Given the description of an element on the screen output the (x, y) to click on. 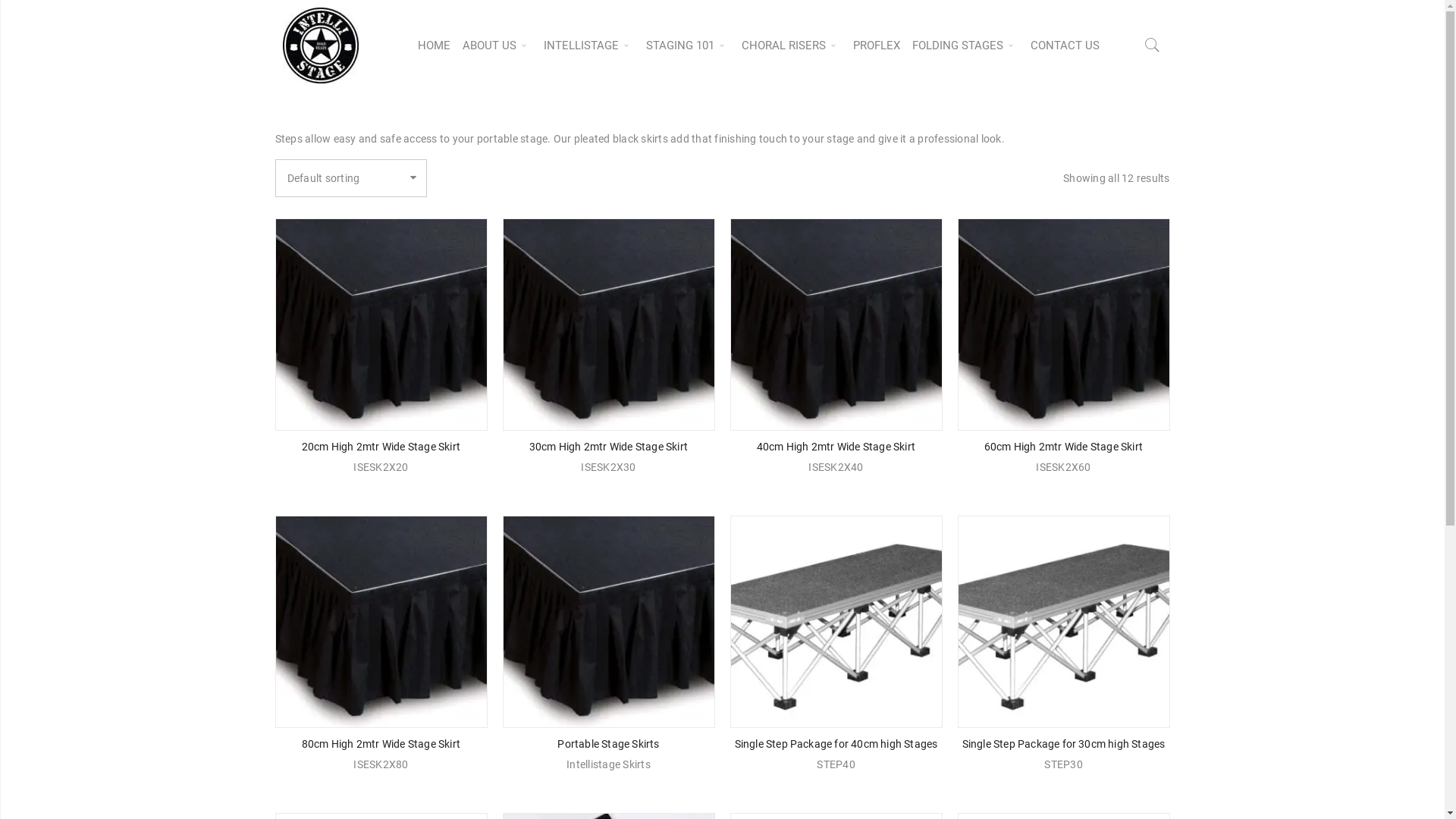
30cm High 2mtr Wide Stage Skirt Element type: text (608, 446)
ABOUT US Element type: text (496, 45)
STAGING 101 Element type: text (687, 45)
CHORAL RISERS Element type: text (790, 45)
Single Step Package for 30cm high Stages Element type: text (1062, 743)
Single Step Package for 40cm high Stages Element type: text (835, 743)
PROFLEX Element type: text (876, 45)
Portable Stage Skirts Element type: text (607, 743)
FOLDING STAGES Element type: text (965, 45)
INTELLISTAGE Element type: text (588, 45)
Intellistage - Australia Element type: hover (319, 45)
80cm High 2mtr Wide Stage Skirt Element type: text (380, 743)
60cm High 2mtr Wide Stage Skirt Element type: text (1063, 446)
Search Element type: text (1151, 109)
40cm High 2mtr Wide Stage Skirt Element type: text (835, 446)
CONTACT US Element type: text (1064, 45)
20cm High 2mtr Wide Stage Skirt Element type: text (380, 446)
HOME Element type: text (433, 45)
